Given the description of an element on the screen output the (x, y) to click on. 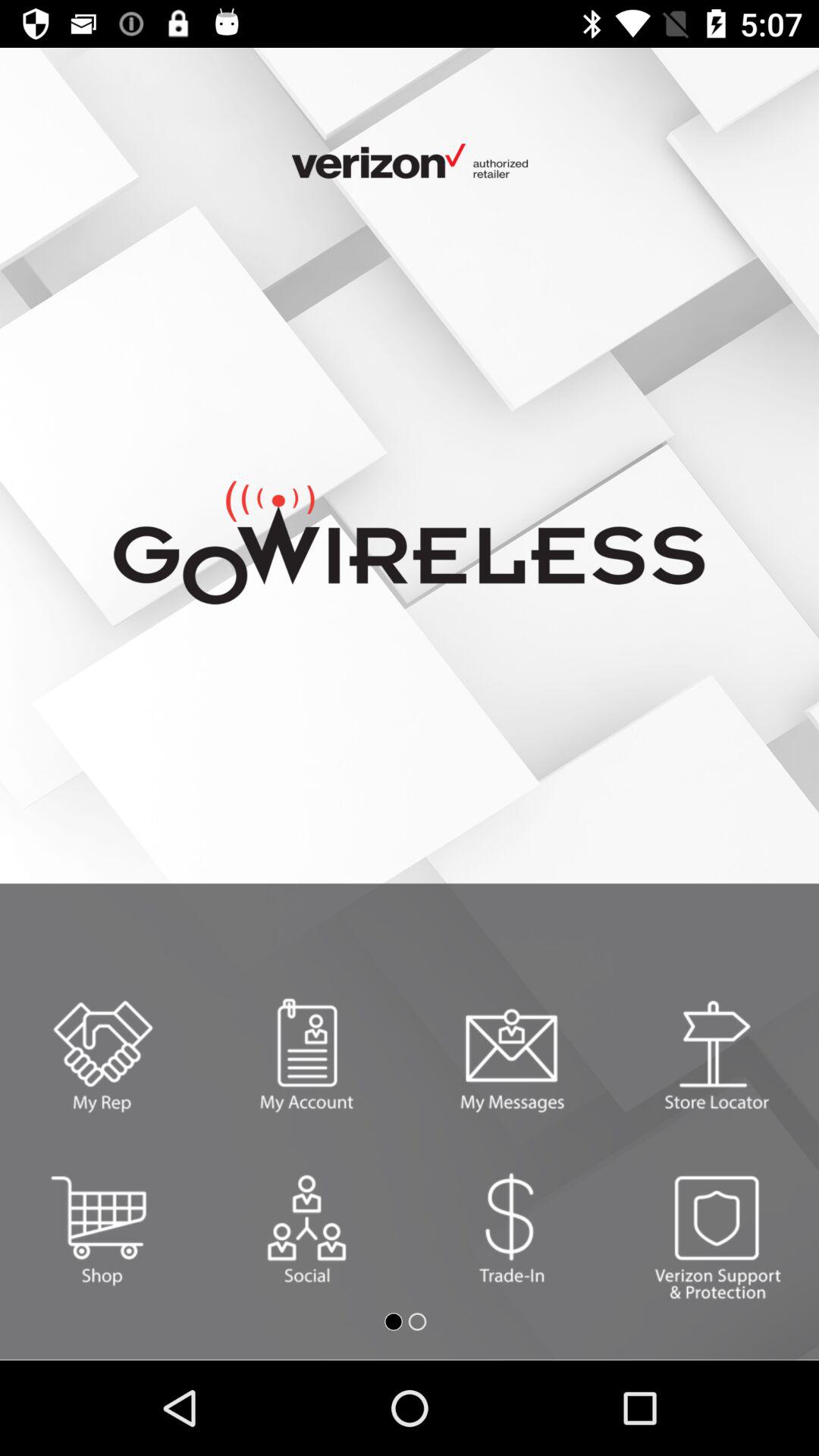
click to support (716, 1228)
